Given the description of an element on the screen output the (x, y) to click on. 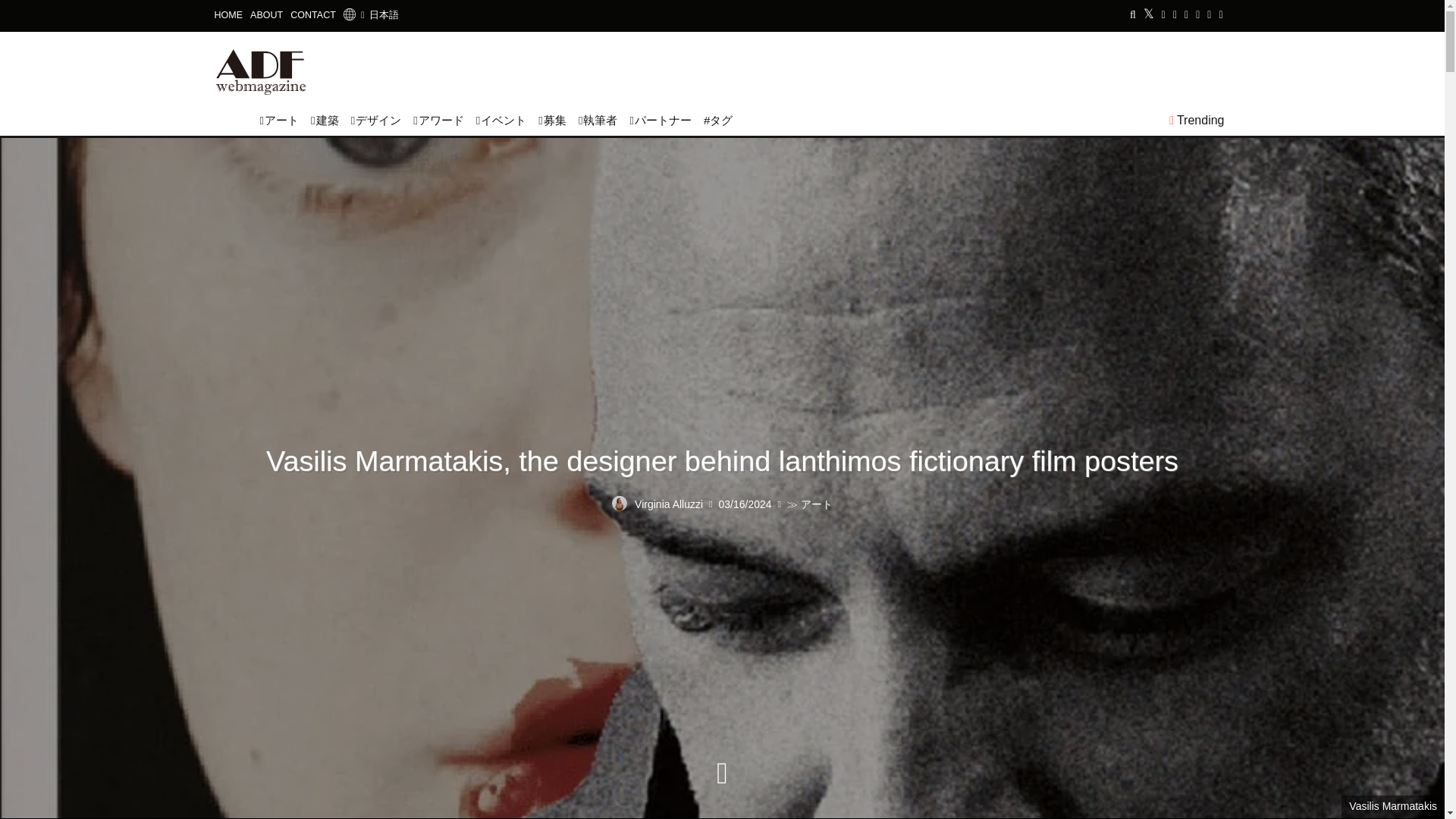
ABOUT (266, 15)
HOME (228, 15)
CONTACT (312, 15)
